Given the description of an element on the screen output the (x, y) to click on. 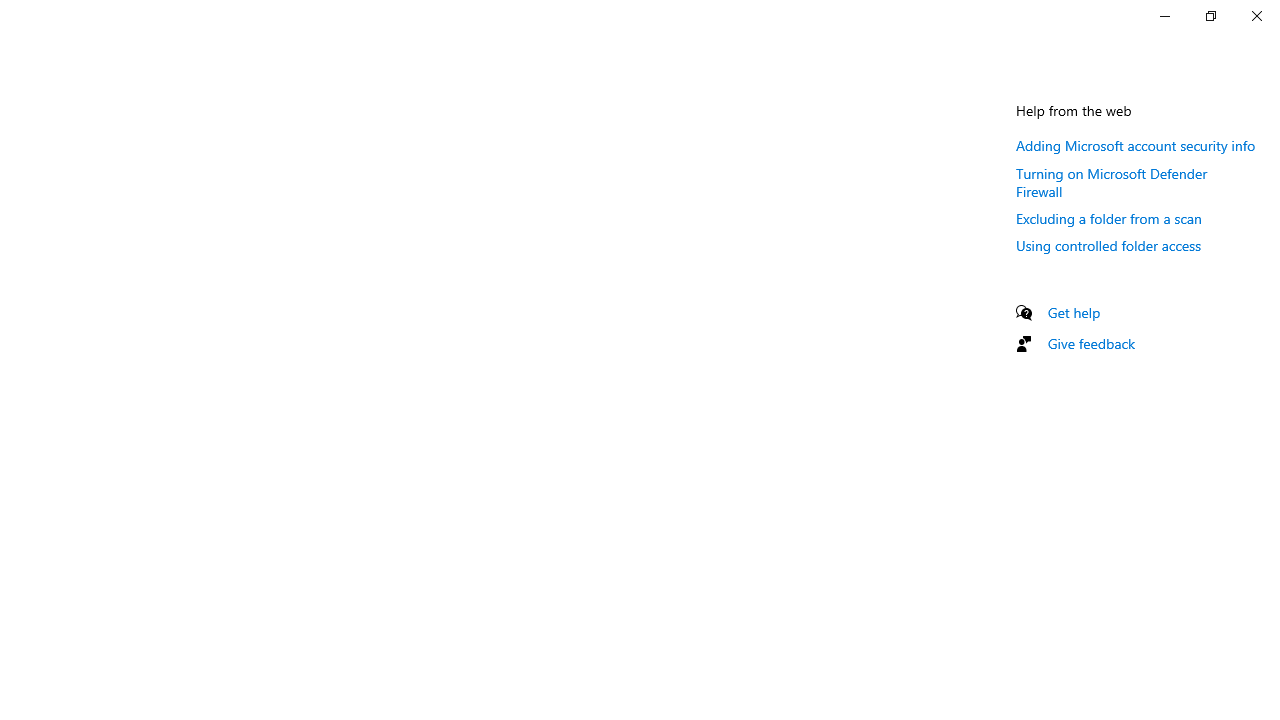
Restore Settings (1210, 15)
Adding Microsoft account security info (1135, 145)
Using controlled folder access (1108, 245)
Give feedback (1091, 343)
Minimize Settings (1164, 15)
Close Settings (1256, 15)
Get help (1074, 312)
Turning on Microsoft Defender Firewall (1112, 181)
Excluding a folder from a scan (1108, 218)
